Given the description of an element on the screen output the (x, y) to click on. 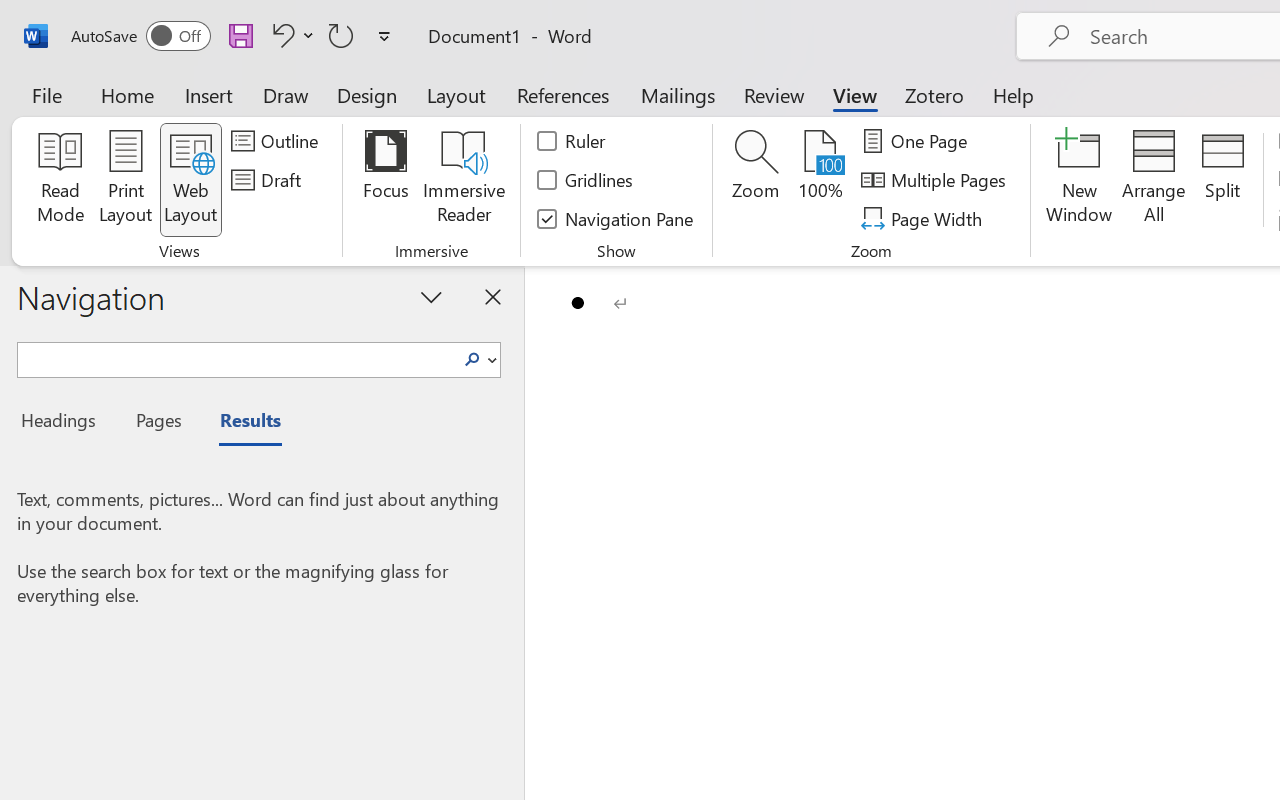
Results (240, 423)
100% (820, 179)
Navigation Pane (616, 218)
Search document (236, 357)
Undo Bullet Default (280, 35)
